Given the description of an element on the screen output the (x, y) to click on. 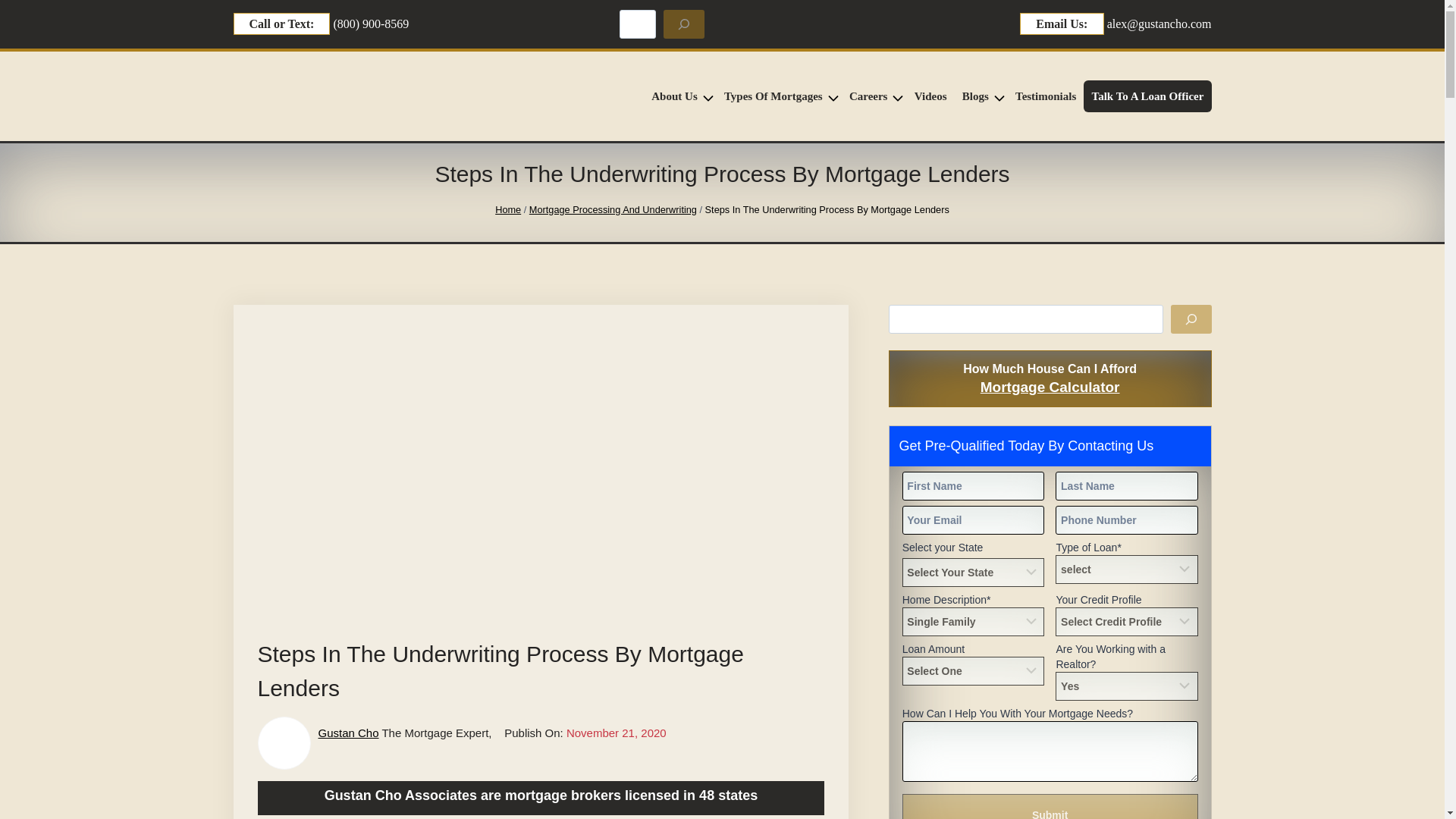
Types Of Mortgages (778, 96)
Posts by Gustan Cho (348, 732)
Submit (1050, 806)
Email Us: (1061, 24)
Call or Text: (281, 24)
About Us (679, 96)
